Given the description of an element on the screen output the (x, y) to click on. 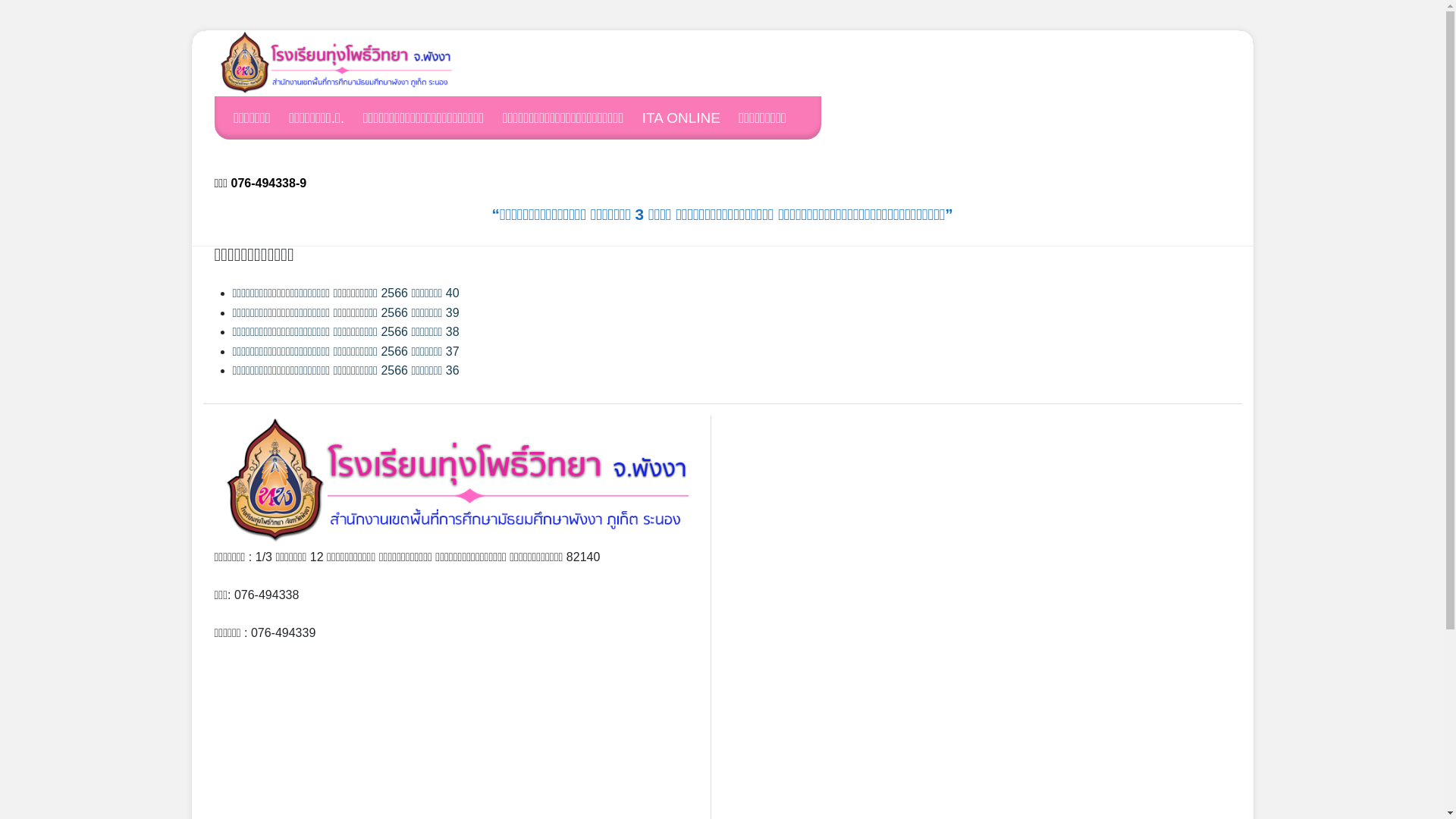
ITA ONLINE (688, 117)
